Given the description of an element on the screen output the (x, y) to click on. 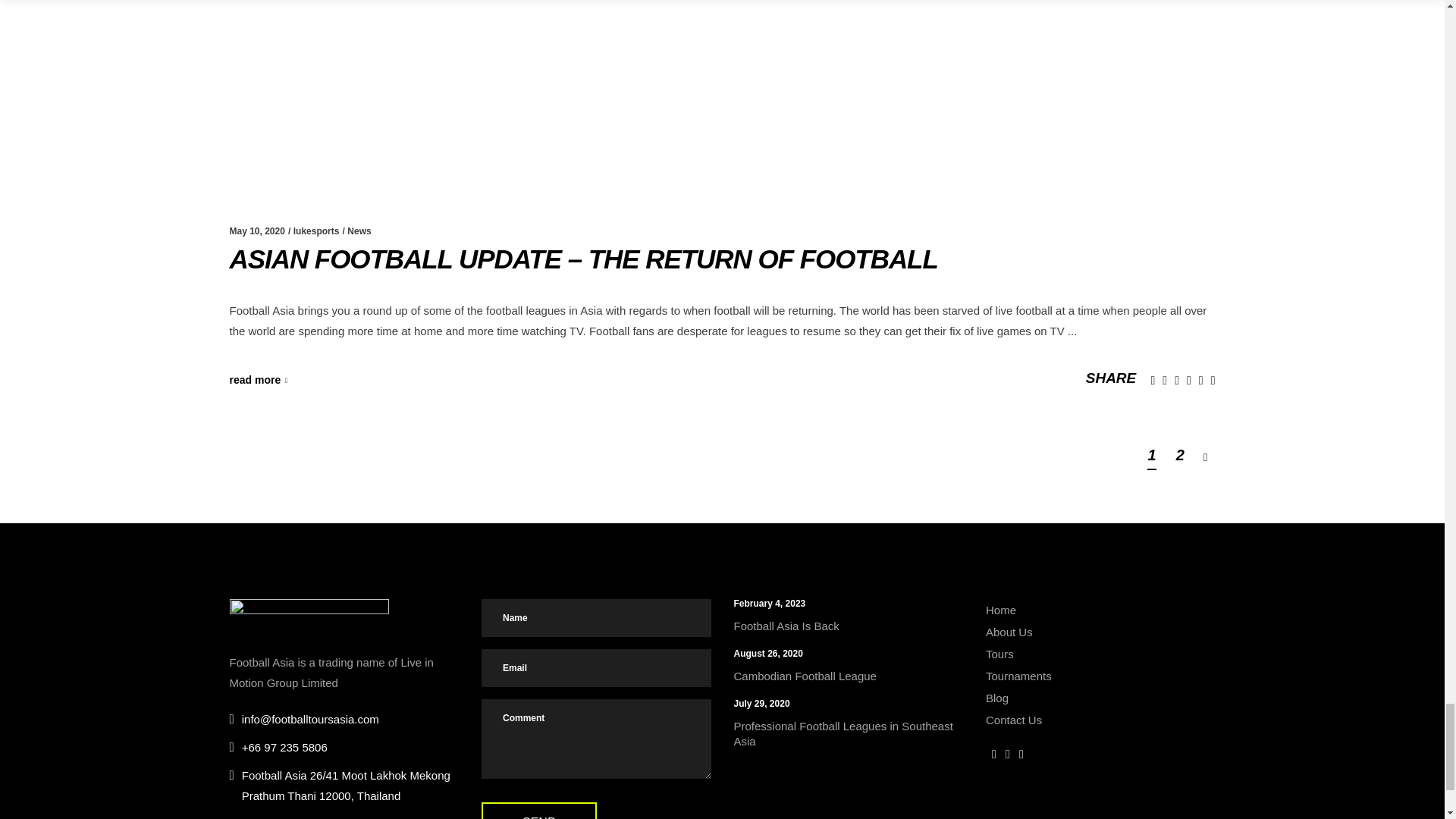
Send (538, 810)
